Given the description of an element on the screen output the (x, y) to click on. 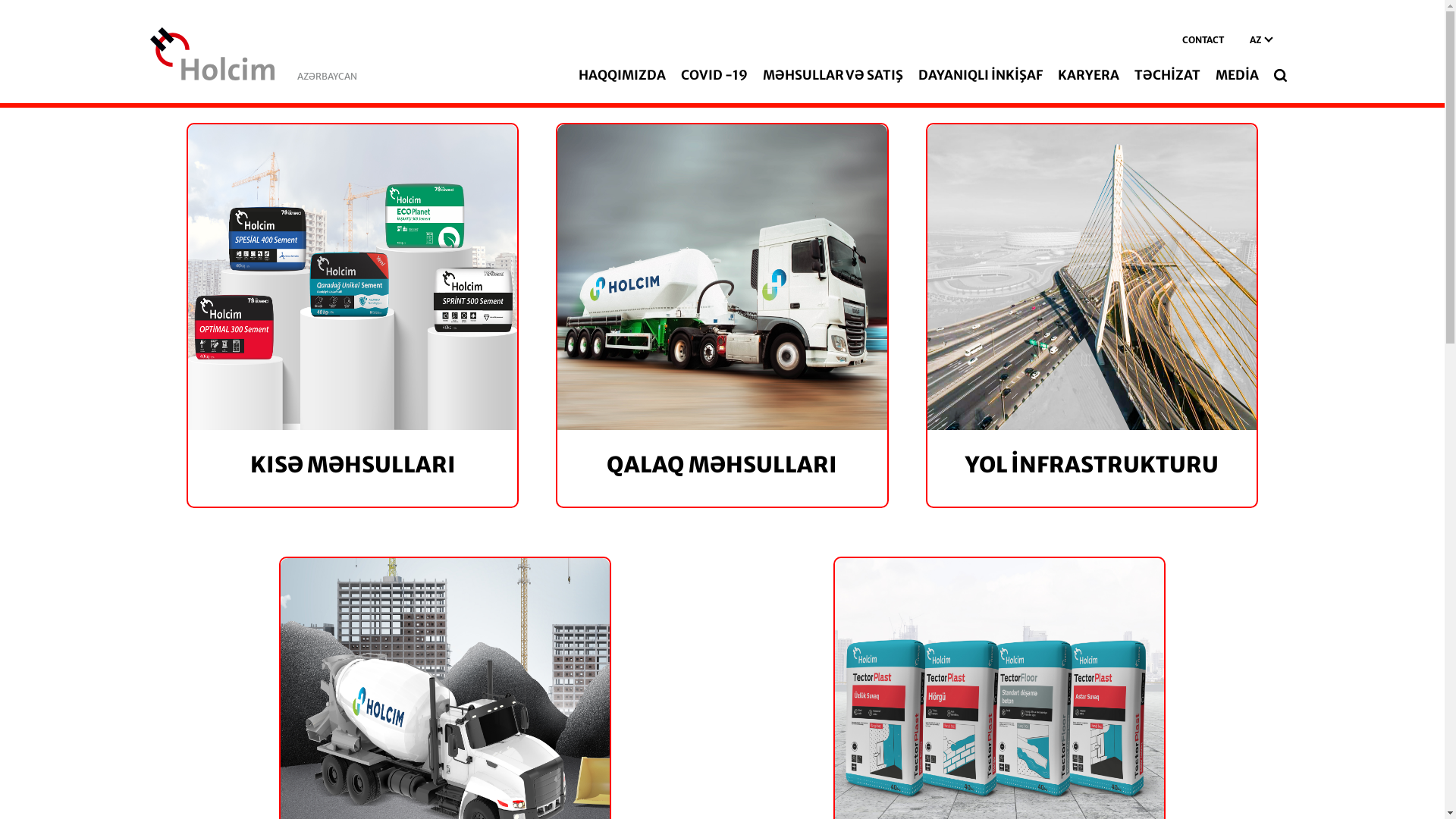
HAQQIMIZDA Element type: text (621, 74)
MEDIA Element type: text (1236, 74)
KARYERA Element type: text (1088, 74)
COVID -19 Element type: text (713, 74)
CONTACT Element type: text (1202, 40)
